Given the description of an element on the screen output the (x, y) to click on. 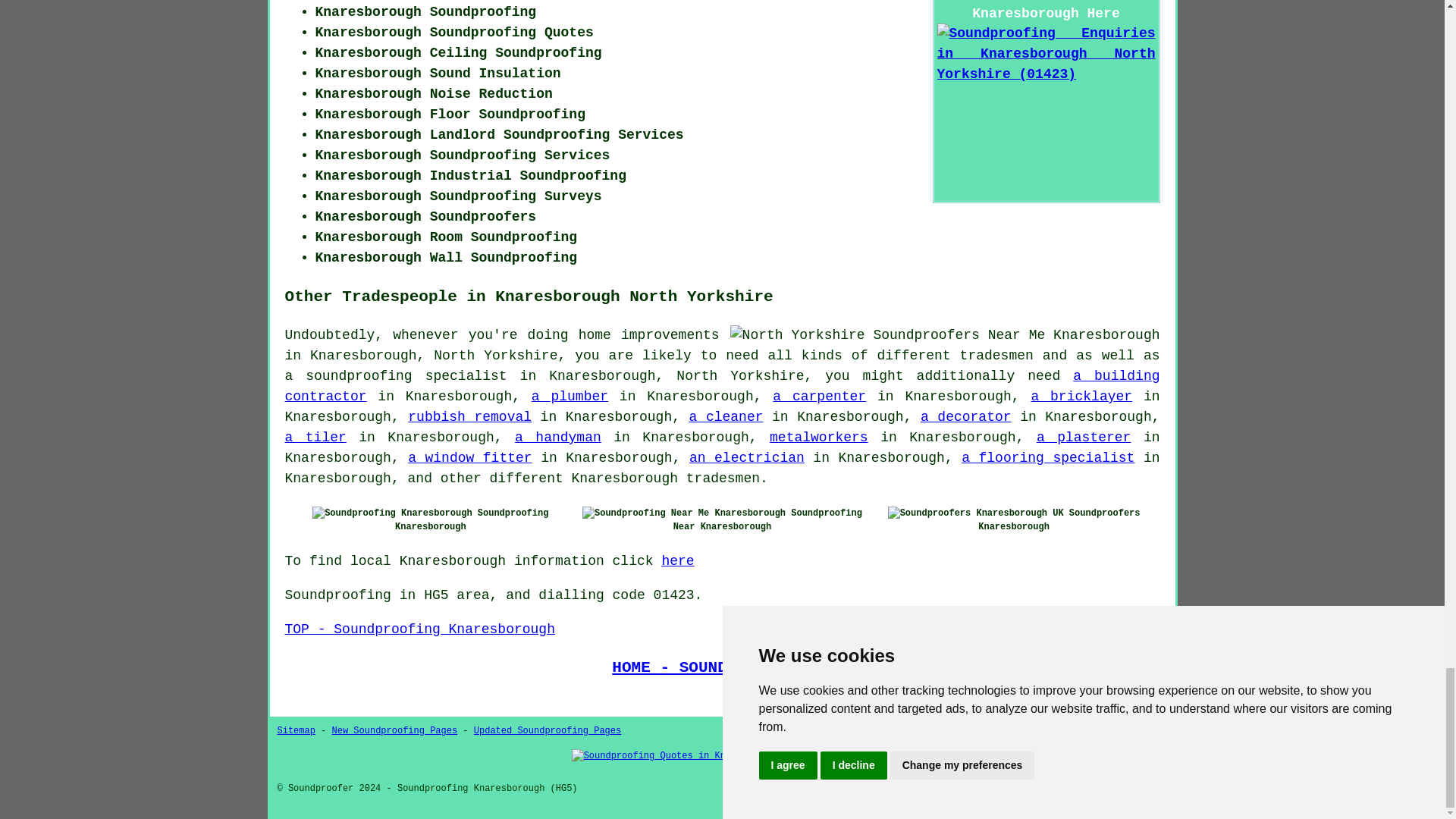
Soundproofing Knaresborough (392, 513)
Soundproofers Knaresborough UK (976, 513)
North Yorkshire Soundproofers Near Me Knaresborough (945, 335)
Soundproofing Near Me Knaresborough (684, 513)
